Given the description of an element on the screen output the (x, y) to click on. 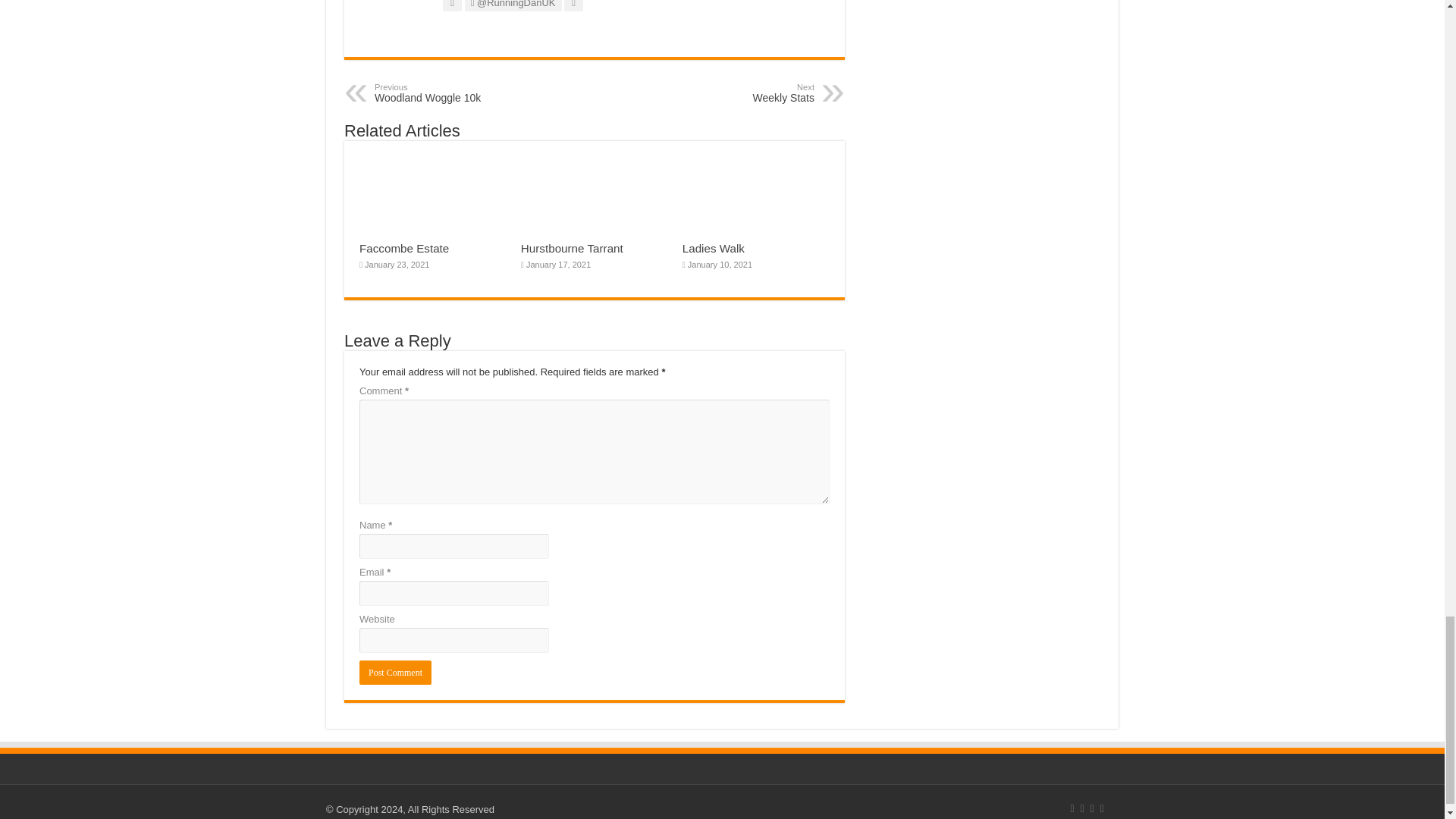
Post Comment (394, 672)
